Given the description of an element on the screen output the (x, y) to click on. 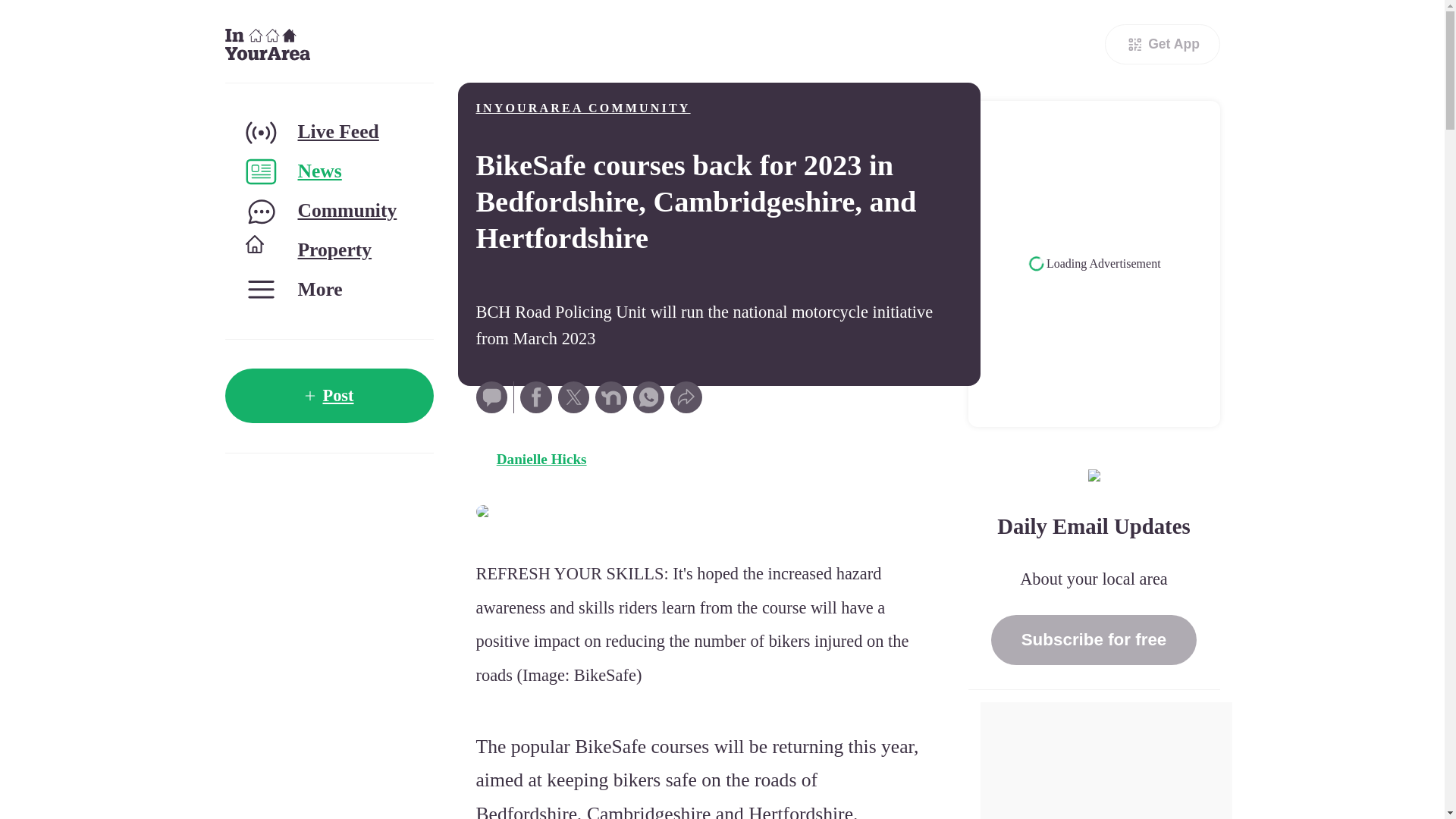
News (328, 171)
Live Feed (328, 132)
Share to ... (685, 397)
Share to Facebook (535, 397)
Post (328, 395)
Share to Nextdoor (611, 397)
Social Button (492, 397)
INYOURAREA COMMUNITY (583, 107)
Get App (1162, 44)
Share to Whatsapp (649, 397)
Share to X (573, 397)
Property (328, 250)
Community (328, 210)
Get App (1162, 44)
